Given the description of an element on the screen output the (x, y) to click on. 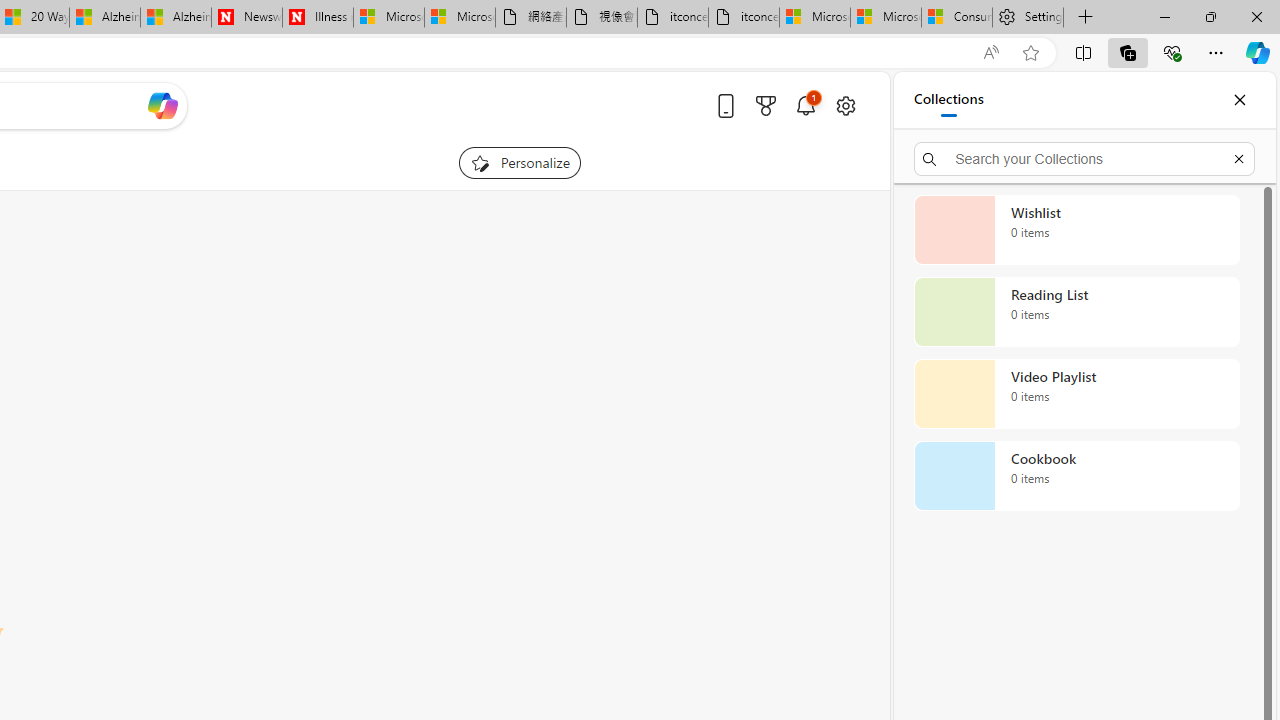
Exit search (1238, 158)
Consumer Health Data Privacy Policy (956, 17)
Reading List collection, 0 items (1076, 312)
itconcepthk.com/projector_solutions.mp4 (744, 17)
